Given the description of an element on the screen output the (x, y) to click on. 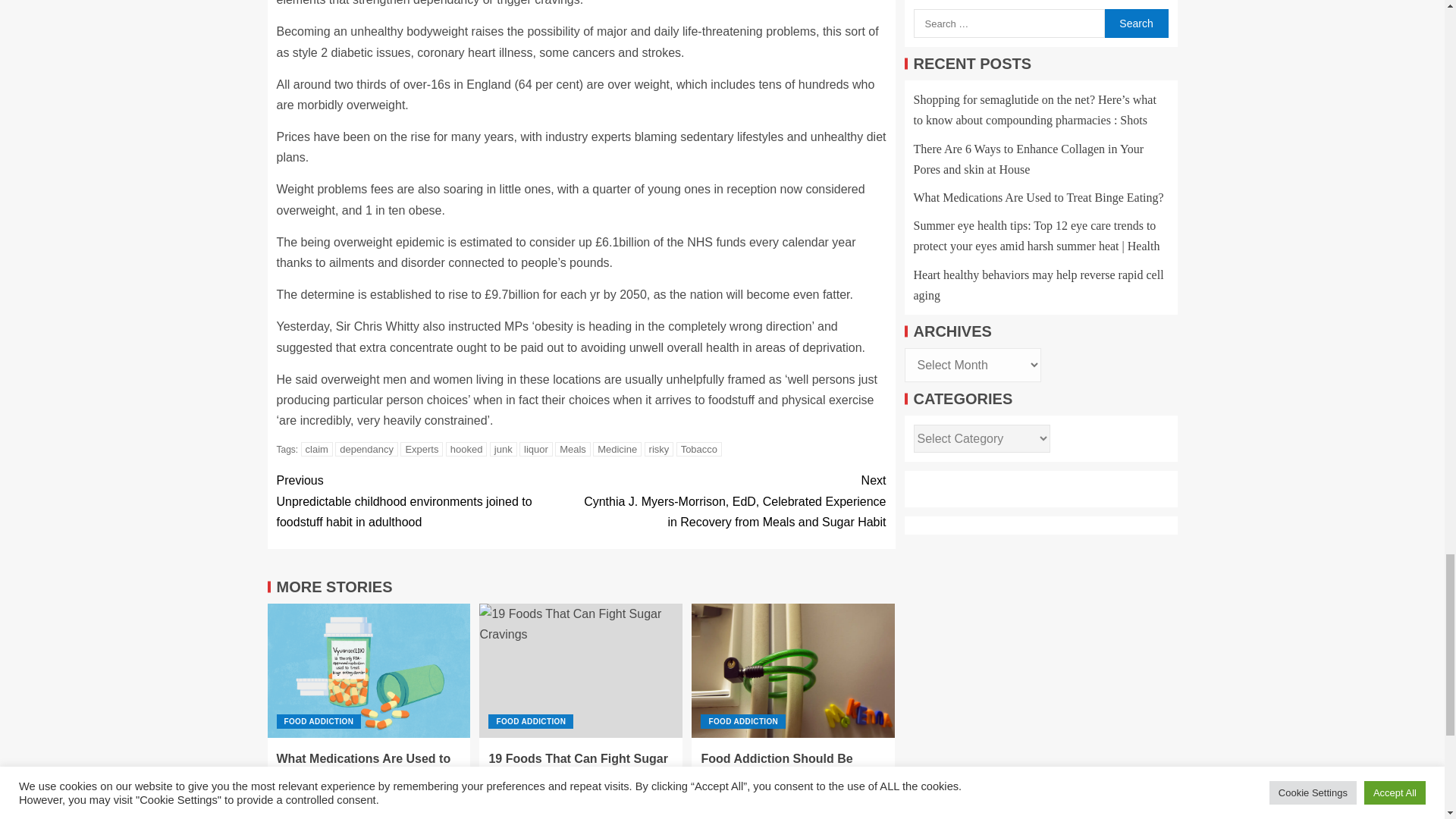
Tobacco (699, 449)
dependancy (365, 449)
Food Addiction Should Be Included in the DSM-6 (793, 670)
Meals (572, 449)
Carla Warner (380, 792)
Medicine (617, 449)
19 Foods That Can Fight Sugar Cravings (580, 670)
hooked (466, 449)
risky (659, 449)
FOOD ADDICTION (318, 721)
What Medications Are Used to Treat Binge Eating? (362, 766)
junk (502, 449)
What Medications Are Used to Treat Binge Eating? (368, 670)
